Given the description of an element on the screen output the (x, y) to click on. 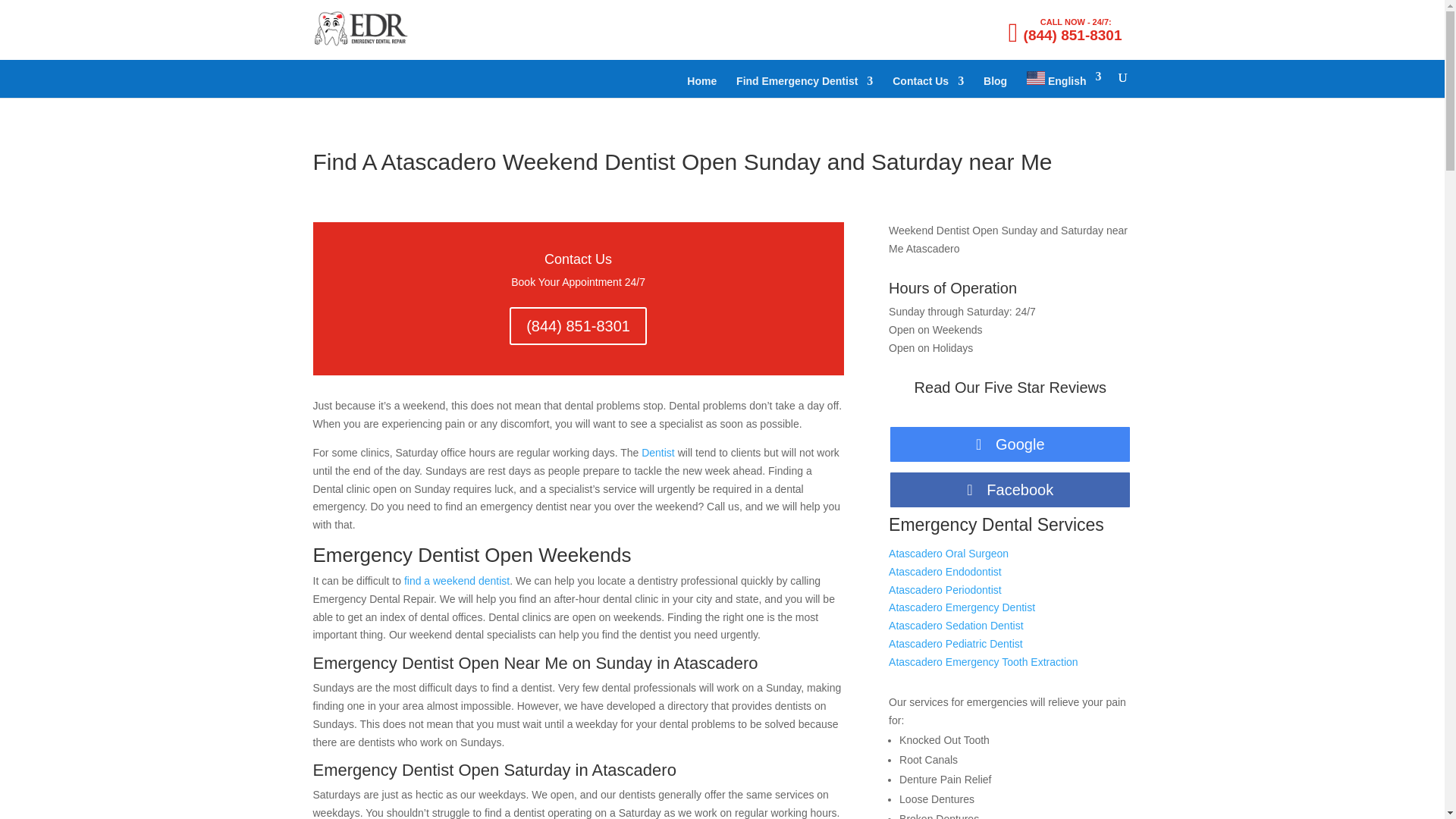
Blog (995, 86)
Home (701, 86)
Contact Us (927, 86)
Find Emergency Dentist (804, 86)
English (1063, 84)
